Given the description of an element on the screen output the (x, y) to click on. 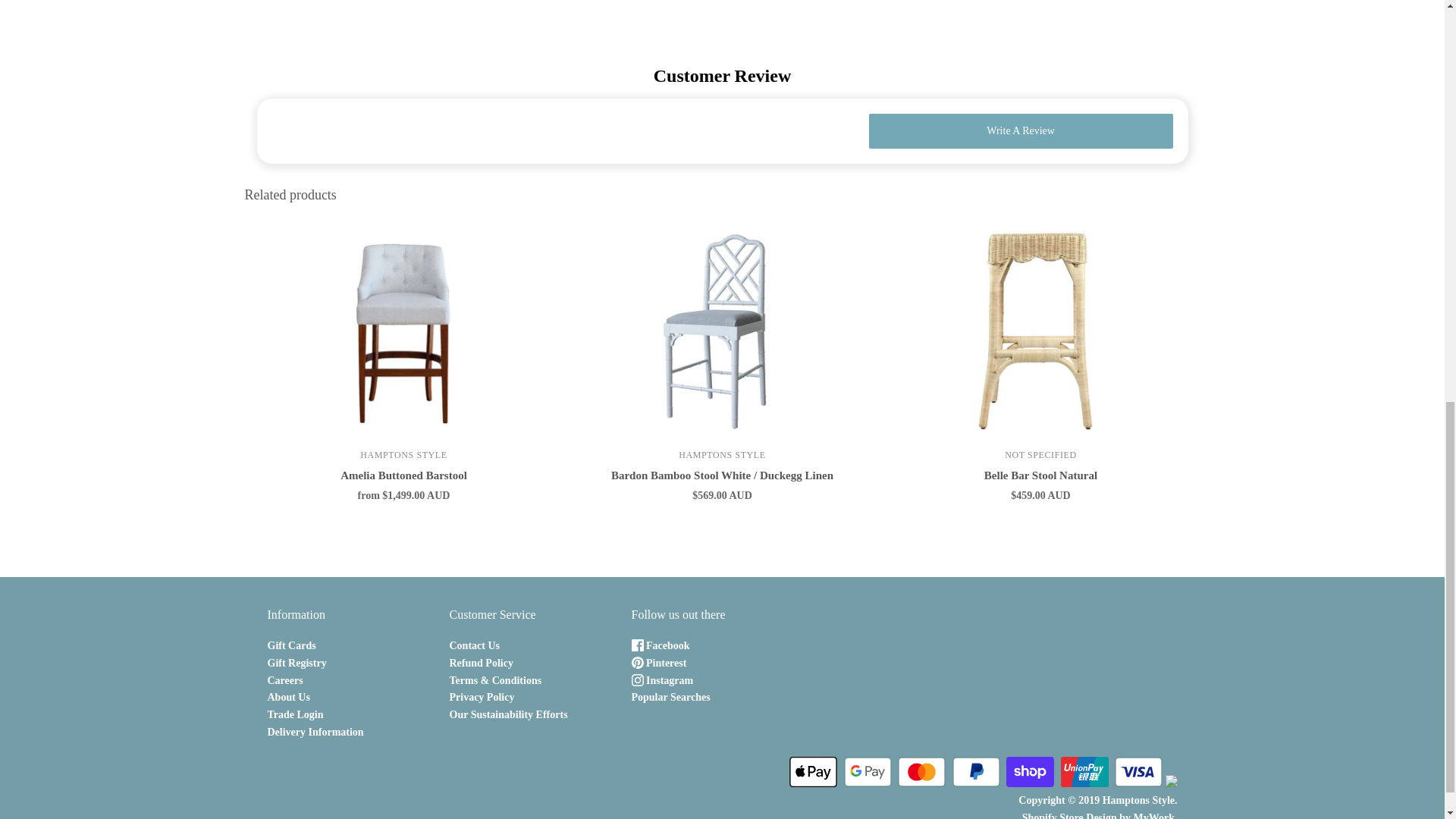
Google Pay (867, 771)
Mastercard (921, 771)
Not specified (1039, 454)
Hamptons Style (721, 454)
Hamptons Style (402, 454)
Union Pay (1083, 771)
Apple Pay (813, 771)
Instagram (661, 680)
Shop Pay (1030, 771)
Facebook (659, 645)
Pinterest (657, 663)
Visa (1138, 771)
PayPal (976, 771)
